Given the description of an element on the screen output the (x, y) to click on. 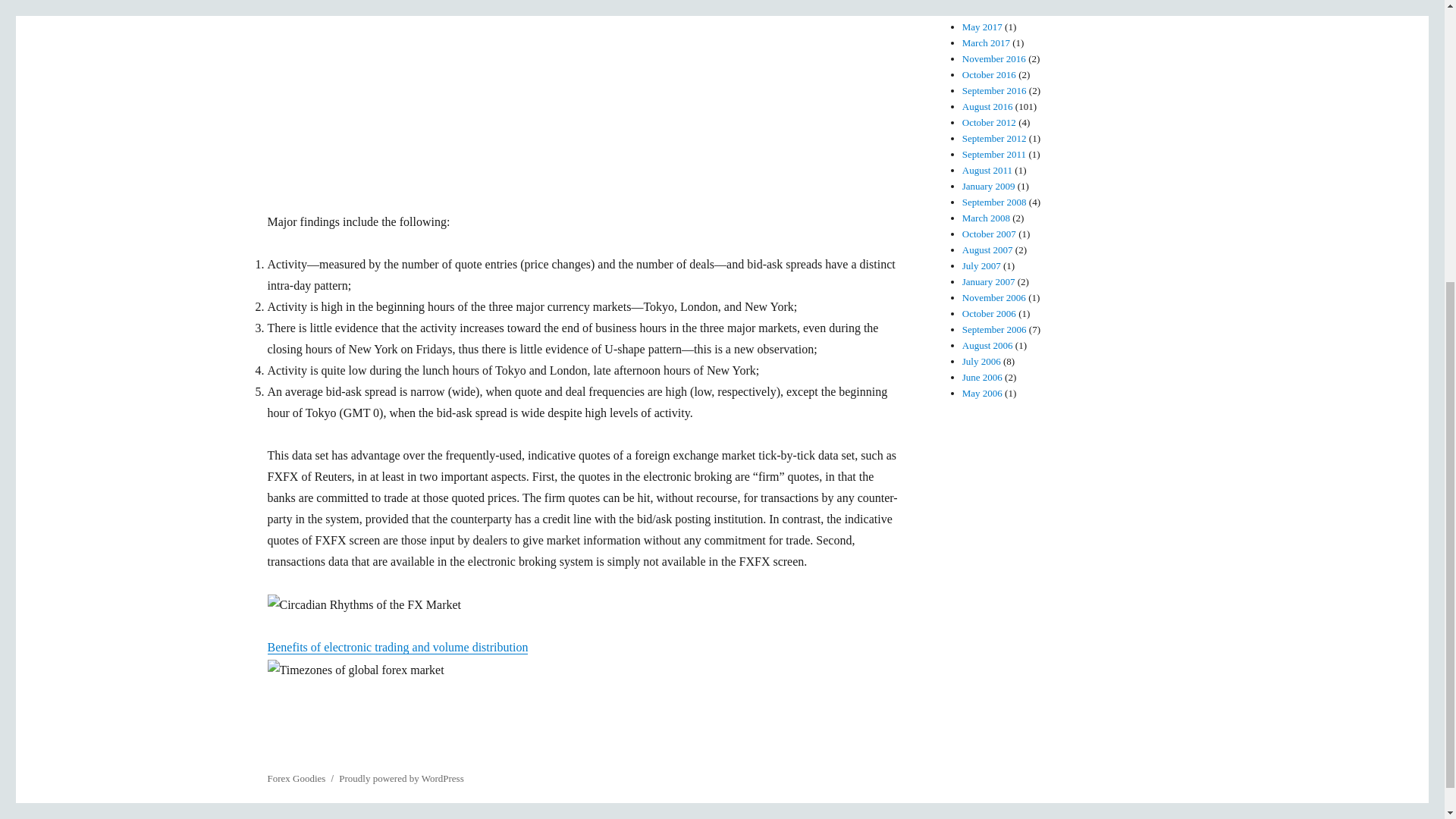
July 2007 (981, 265)
October 2007 (989, 233)
October 2012 (989, 122)
September 2011 (994, 153)
September 2012 (994, 138)
November 2016 (994, 58)
September 2016 (994, 90)
October 2016 (989, 74)
January 2007 (988, 281)
March 2017 (986, 42)
August 2011 (986, 170)
August 2016 (987, 106)
May 2017 (982, 26)
March 2008 (986, 217)
August 2007 (987, 249)
